Given the description of an element on the screen output the (x, y) to click on. 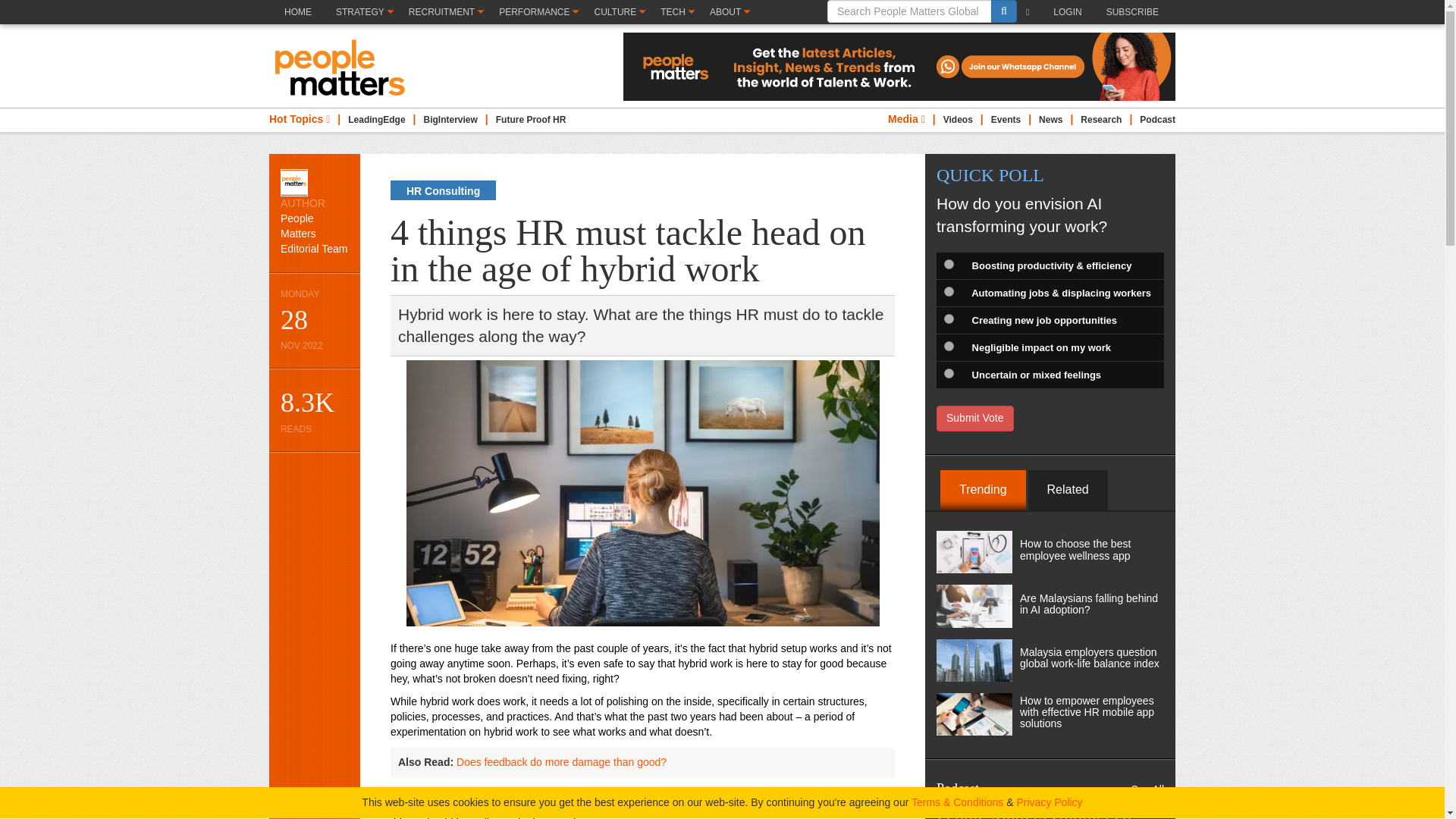
322 (948, 318)
320 (948, 264)
RECRUITMENT (445, 12)
STRATEGY (363, 12)
321 (948, 291)
324 (948, 373)
HOME (297, 24)
323 (948, 346)
